Given the description of an element on the screen output the (x, y) to click on. 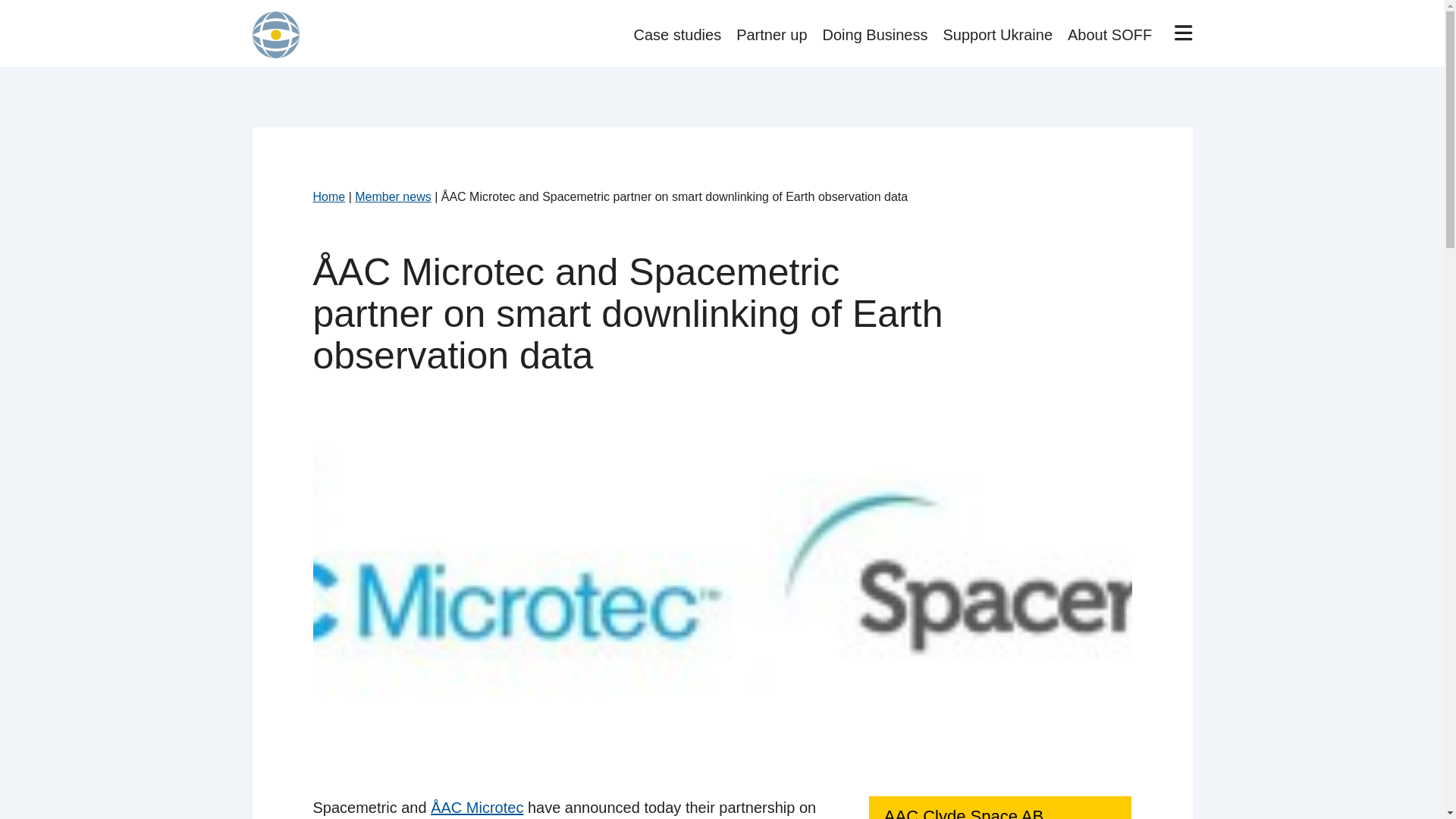
Partner up (771, 34)
About SOFF (1109, 34)
Doing Business (875, 34)
Home (329, 196)
Support Ukraine (997, 34)
Member news (392, 196)
AAC Clyde Space AB (963, 812)
Case studies (677, 34)
